Given the description of an element on the screen output the (x, y) to click on. 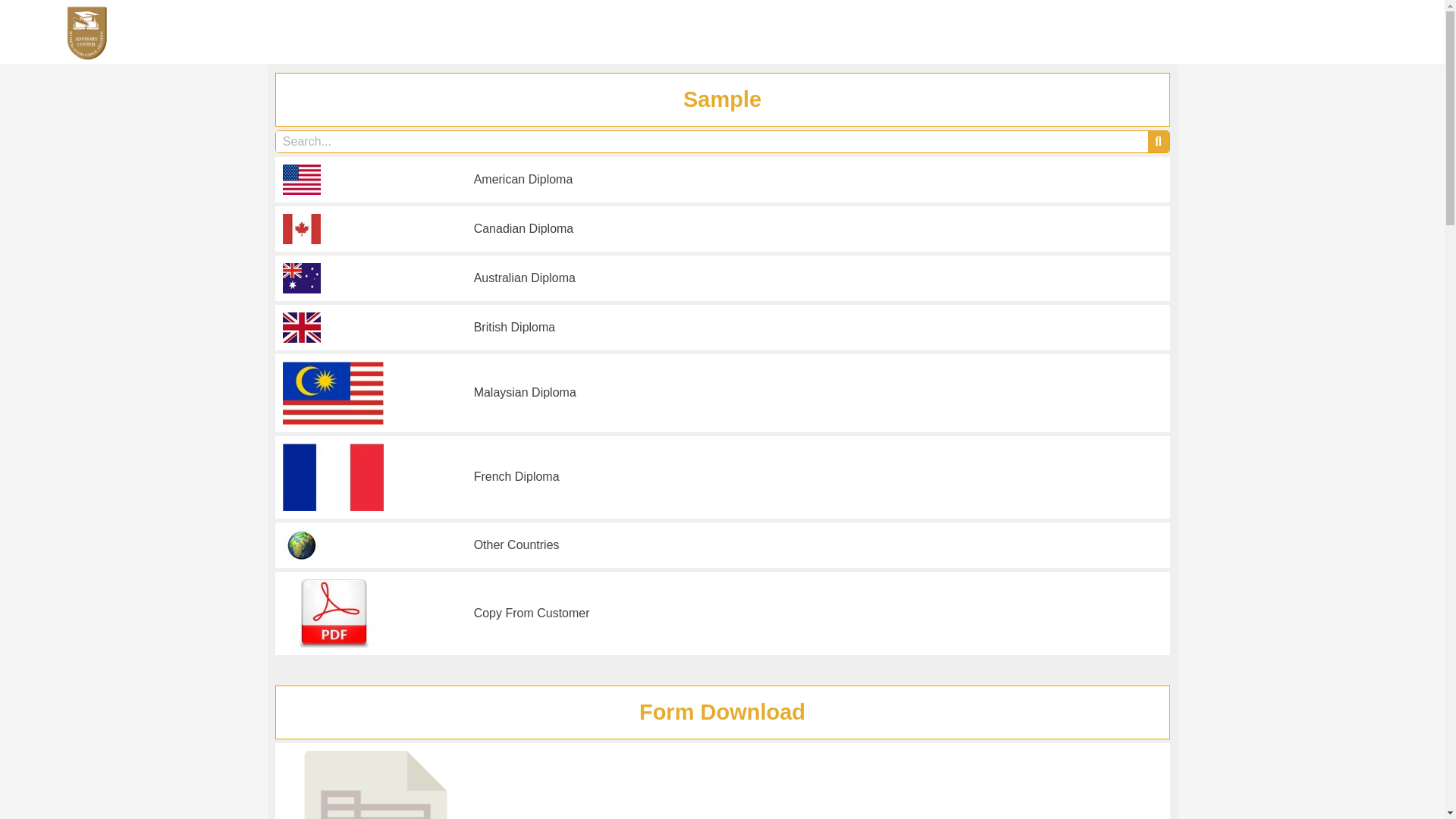
Search (1158, 141)
Copy From Customer (531, 612)
Contact (1369, 32)
About Us (1006, 32)
British Diploma (515, 327)
American Diploma (523, 178)
Home (928, 32)
Blog (1160, 32)
Process (1228, 32)
Search (22, 20)
Sample (1090, 32)
French Diploma (516, 476)
Other Countries (516, 544)
Australian Diploma (524, 277)
Search (712, 141)
